Given the description of an element on the screen output the (x, y) to click on. 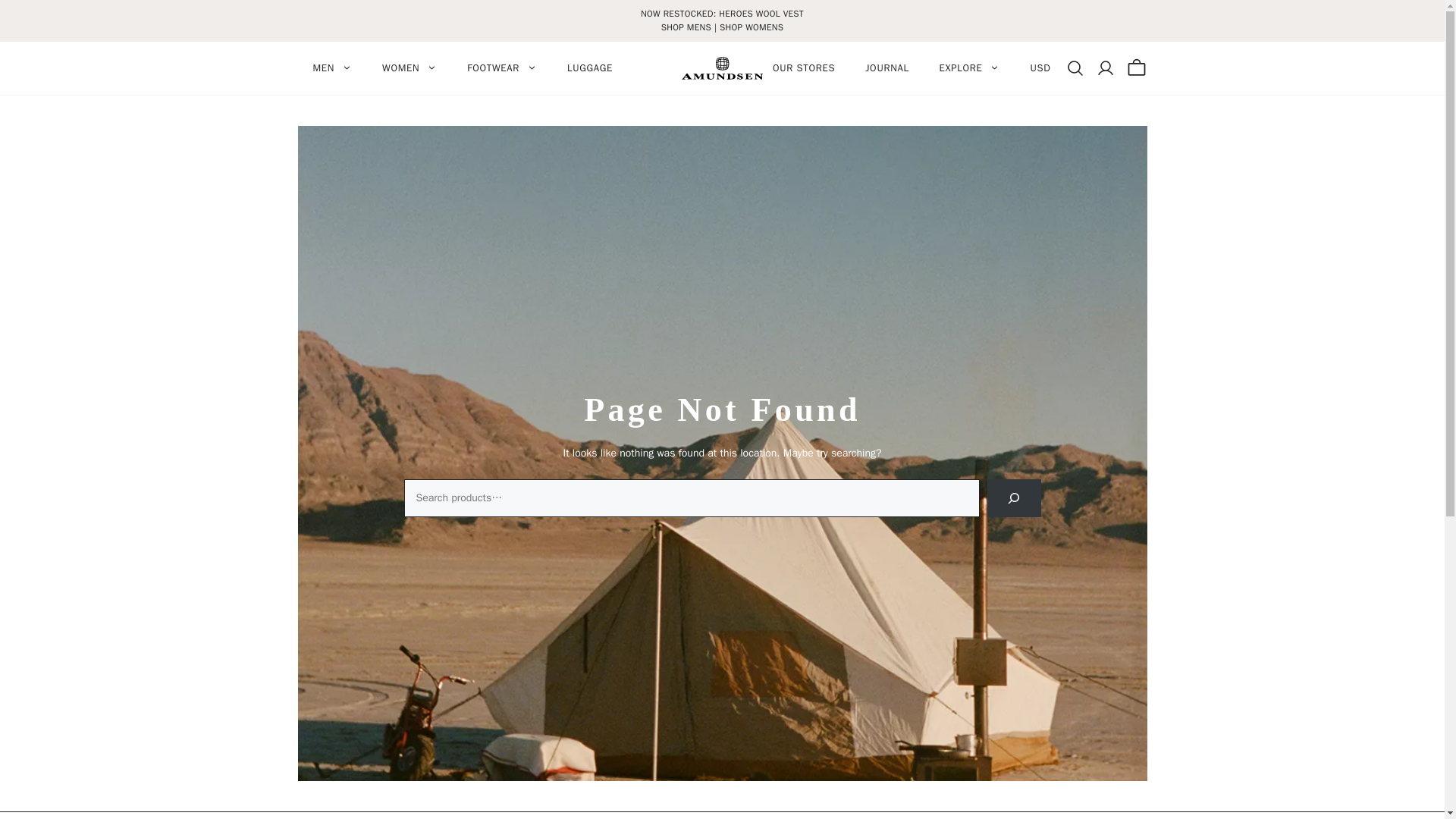
WOMEN (408, 68)
SHOP WOMENS (751, 27)
MEN (331, 68)
My Account (1110, 67)
Amundsen Sports (721, 67)
SHOP MENS (686, 27)
